Given the description of an element on the screen output the (x, y) to click on. 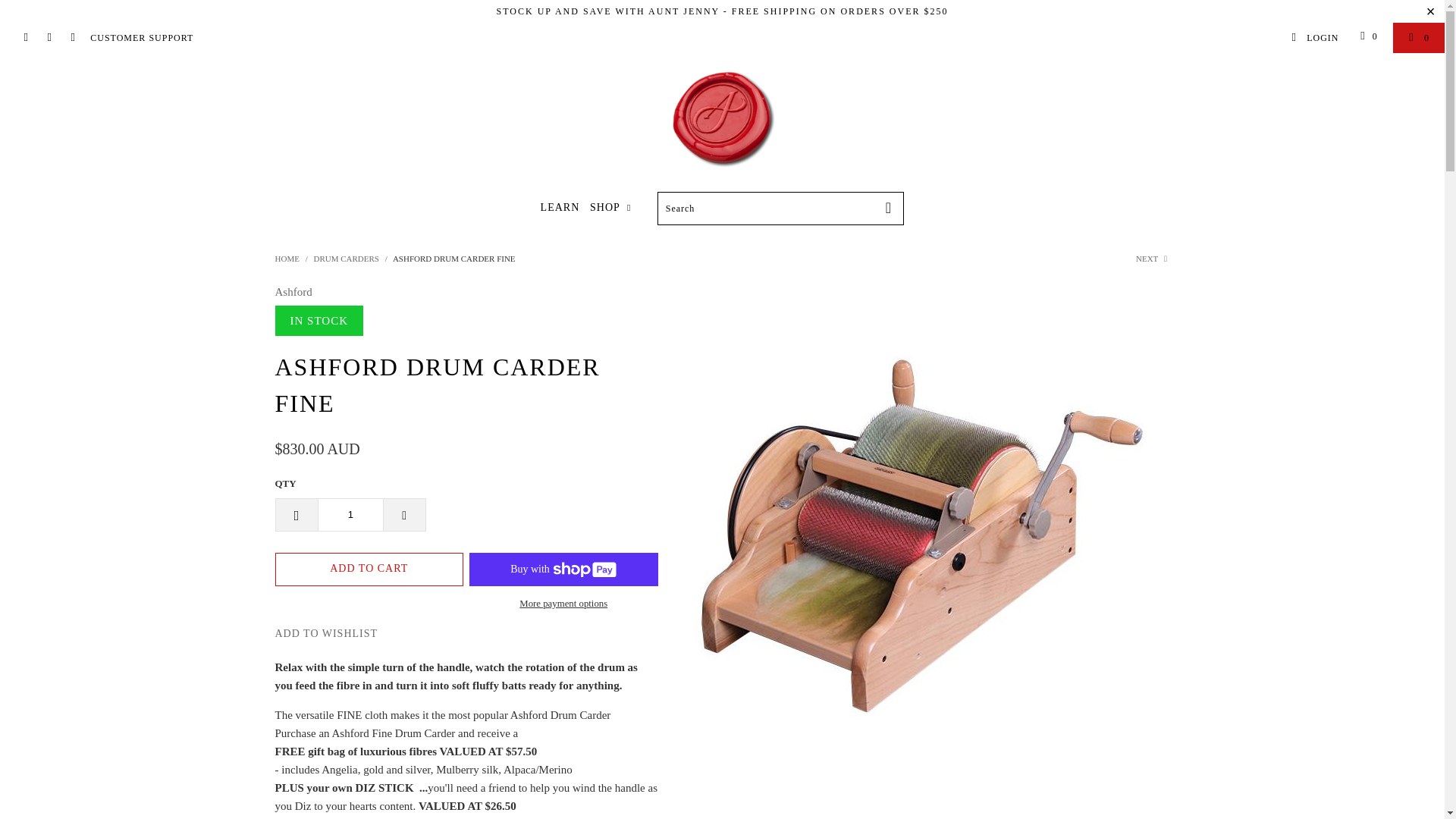
Aunt Jenny  on Instagram (48, 37)
Aunt Jenny  on Facebook (25, 37)
My Account  (1314, 37)
Ashford (293, 291)
Aunt Jenny  (286, 257)
Drum Carders (345, 257)
Email Aunt Jenny  (71, 37)
Next (1152, 257)
1 (349, 514)
